Given the description of an element on the screen output the (x, y) to click on. 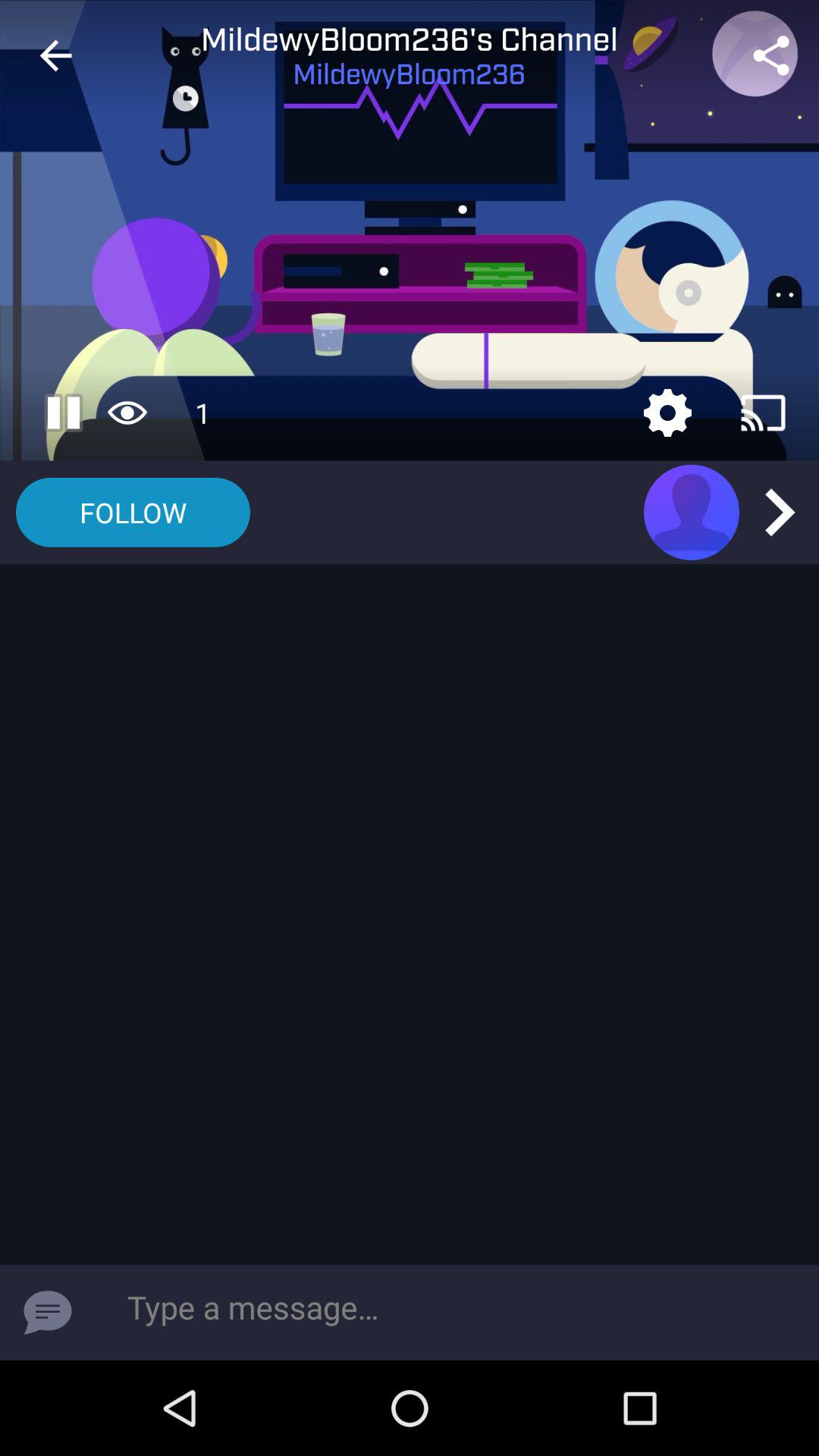
press item to the left of mildewybloom236's channel icon (55, 55)
